Given the description of an element on the screen output the (x, y) to click on. 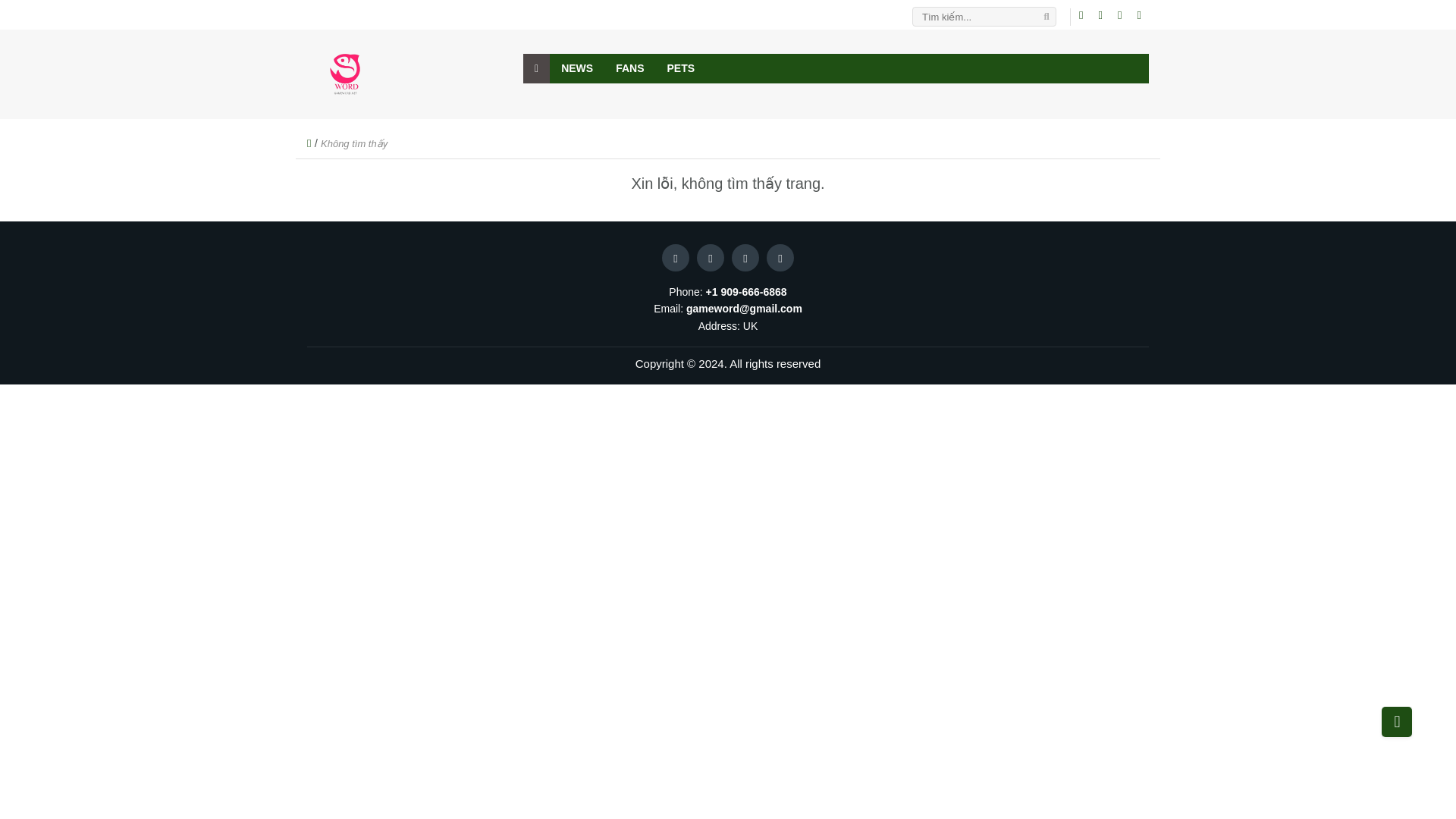
NEWS (577, 68)
PETS (680, 68)
FANS (629, 68)
